Given the description of an element on the screen output the (x, y) to click on. 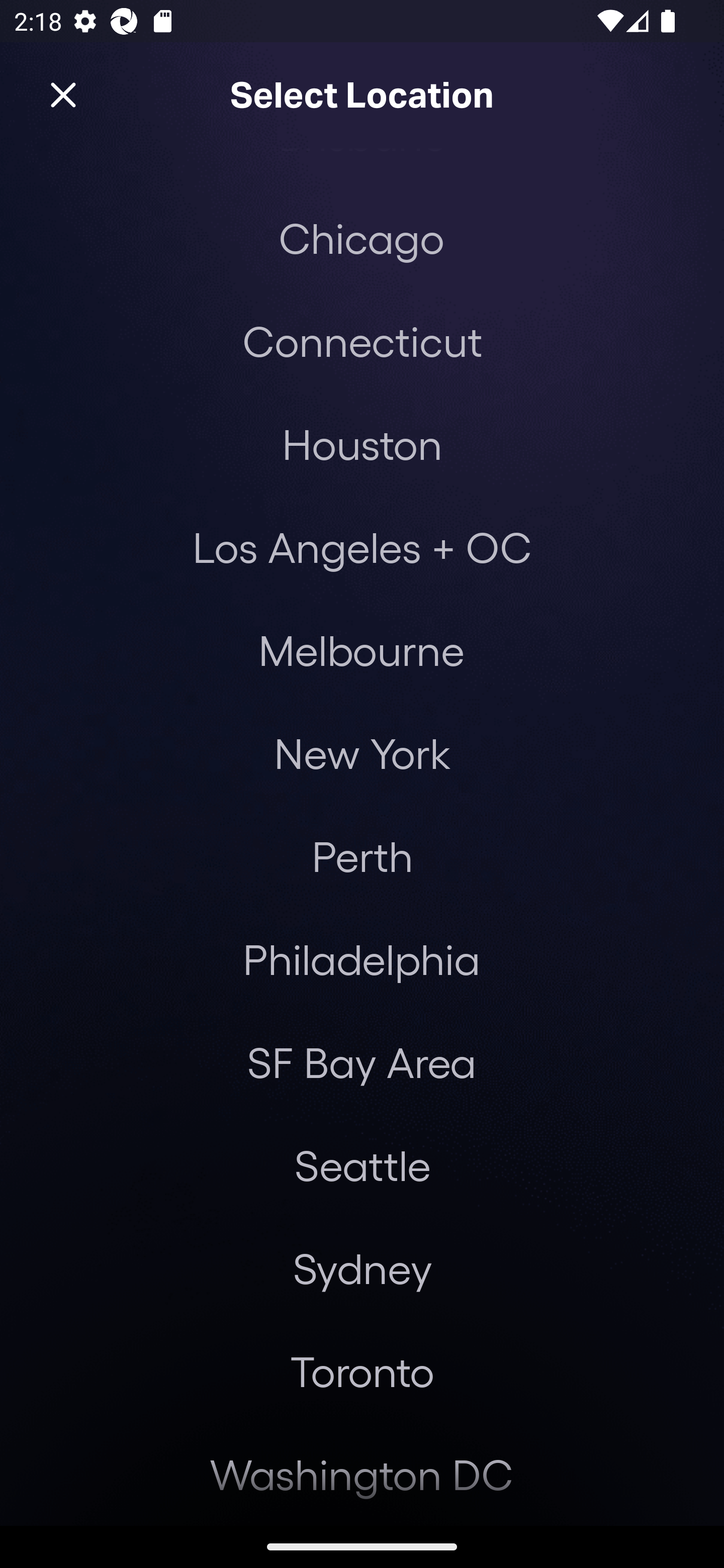
Close (62, 95)
Chicago (361, 238)
Connecticut (361, 341)
Houston (361, 443)
Los Angeles + OC (361, 546)
Melbourne (361, 649)
New York (361, 752)
Perth (361, 855)
Philadelphia (361, 959)
SF Bay Area (361, 1062)
Seattle (361, 1164)
Sydney (361, 1268)
Toronto (361, 1371)
Washington DC (361, 1473)
